Given the description of an element on the screen output the (x, y) to click on. 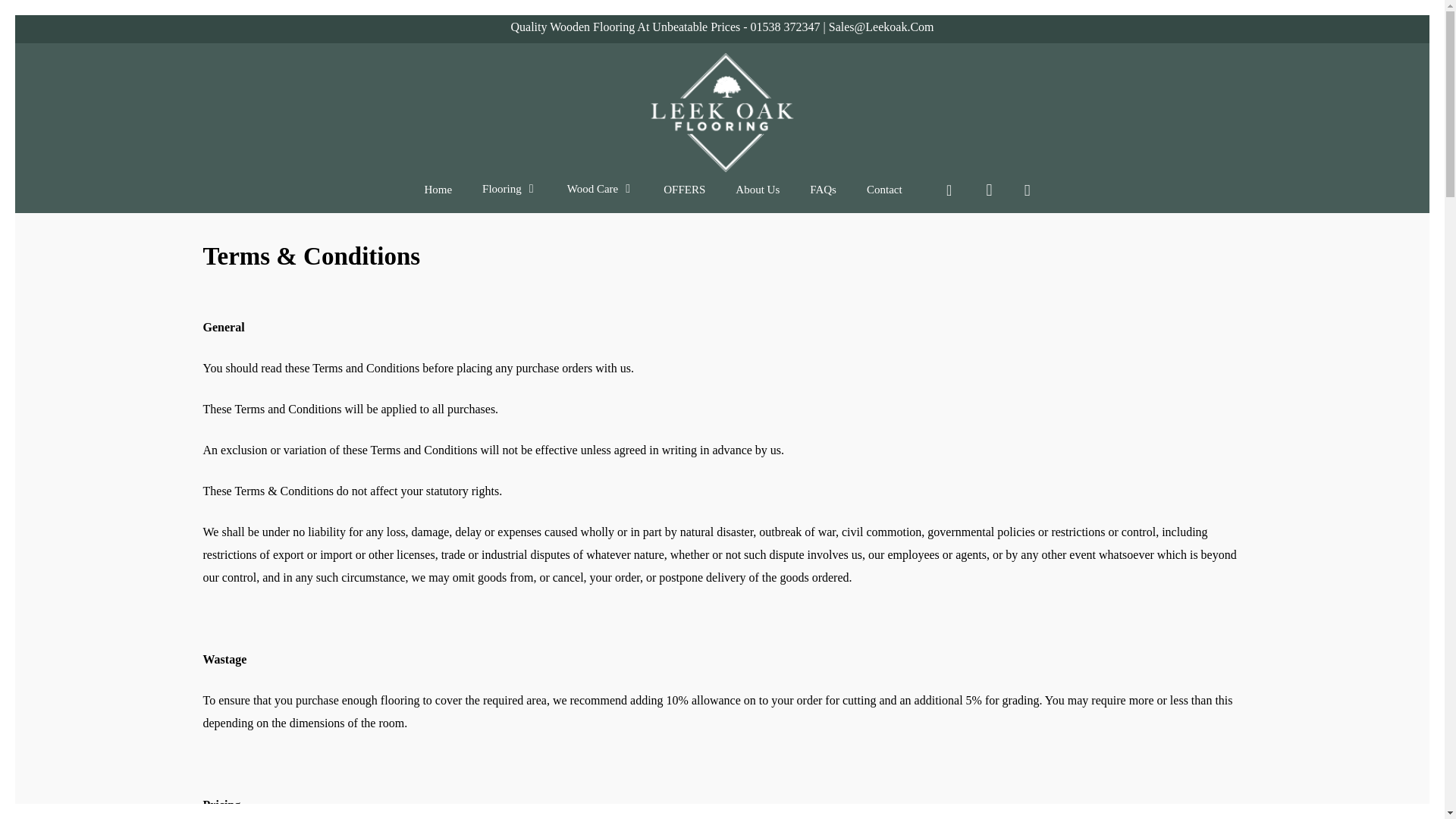
Flooring (509, 196)
Home (437, 197)
OFFERS (683, 197)
Contact (884, 197)
FAQs (822, 197)
Wood Care (600, 196)
About Us (756, 197)
